Given the description of an element on the screen output the (x, y) to click on. 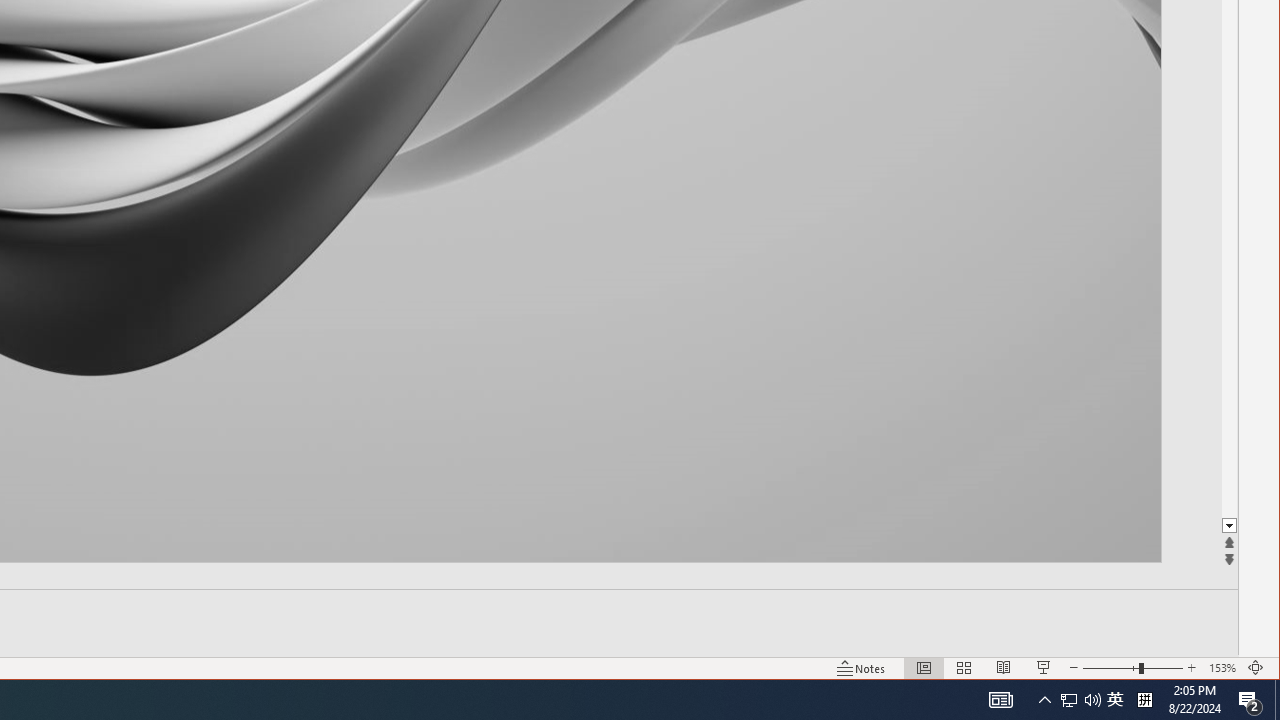
Zoom 153% (1222, 668)
Notification Chevron (1044, 699)
Line down (1229, 525)
Tray Input Indicator - Chinese (Simplified, China) (1144, 699)
AutomationID: 4105 (1115, 699)
